Given the description of an element on the screen output the (x, y) to click on. 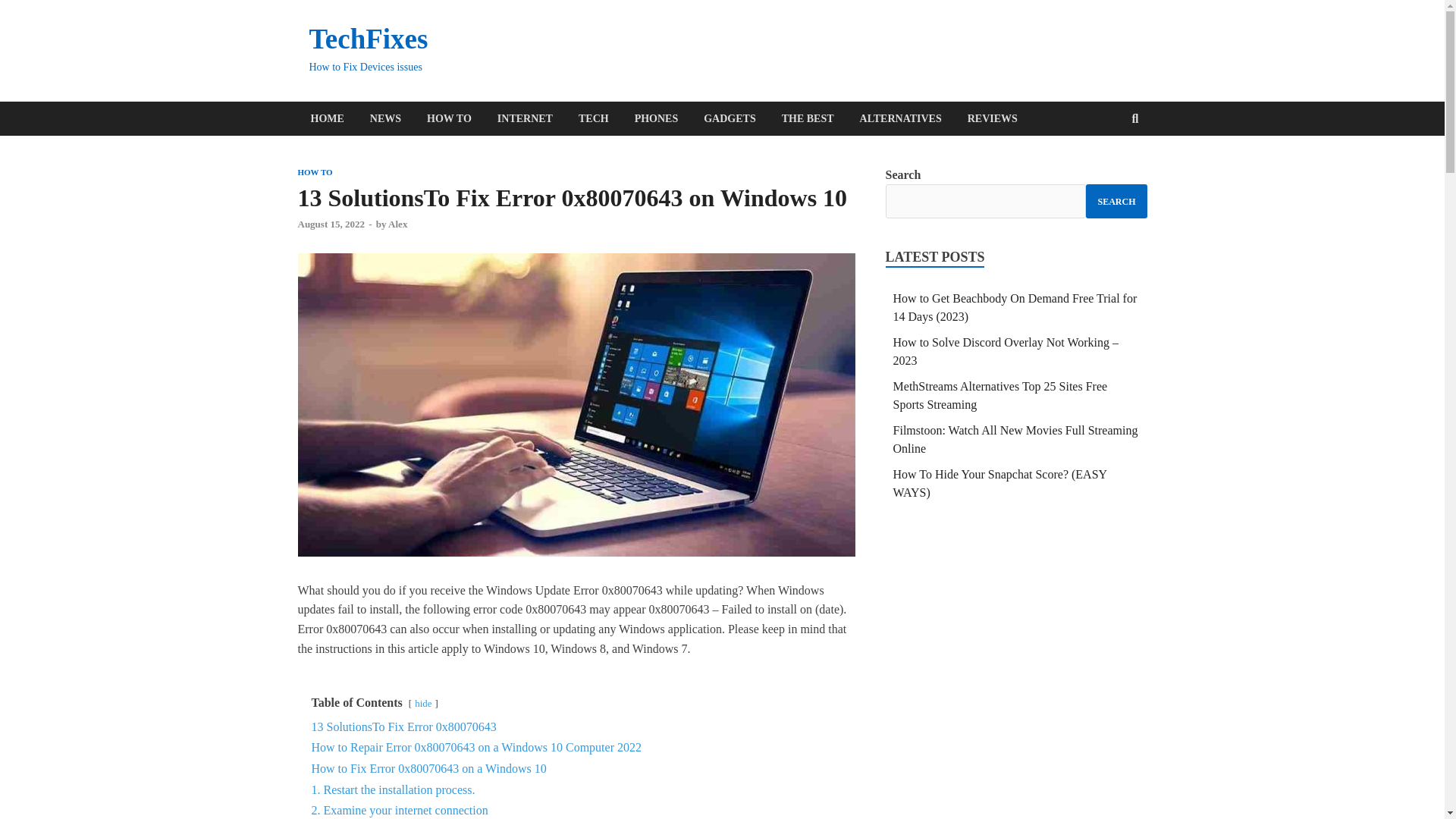
2. Examine your internet connection (399, 809)
TechFixes (368, 38)
How to Fix Error 0x80070643 on a Windows 10 (428, 768)
13 SolutionsTo Fix Error 0x80070643 (403, 726)
August 15, 2022 (331, 224)
How to Repair Error 0x80070643 on a Windows 10 Computer 2022 (475, 747)
GADGETS (729, 118)
hide (422, 703)
ALTERNATIVES (901, 118)
THE BEST (807, 118)
TECH (593, 118)
NEWS (384, 118)
HOW TO (448, 118)
HOW TO (314, 171)
REVIEWS (992, 118)
